Given the description of an element on the screen output the (x, y) to click on. 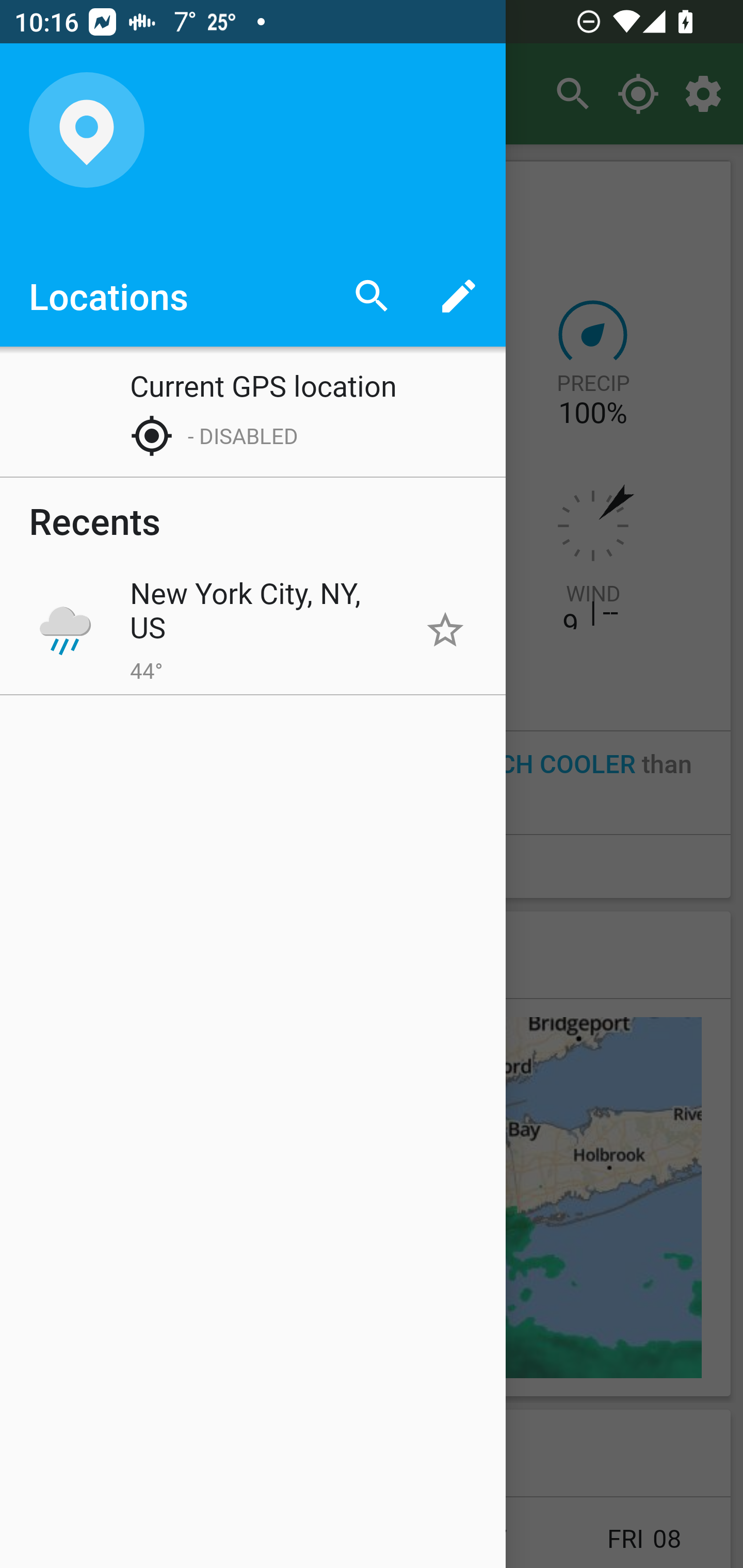
Search for location (371, 295)
Edit (458, 295)
Current GPS location  - DISABLED (252, 412)
Add New York City, NY, US To Favorites (444, 629)
